Given the description of an element on the screen output the (x, y) to click on. 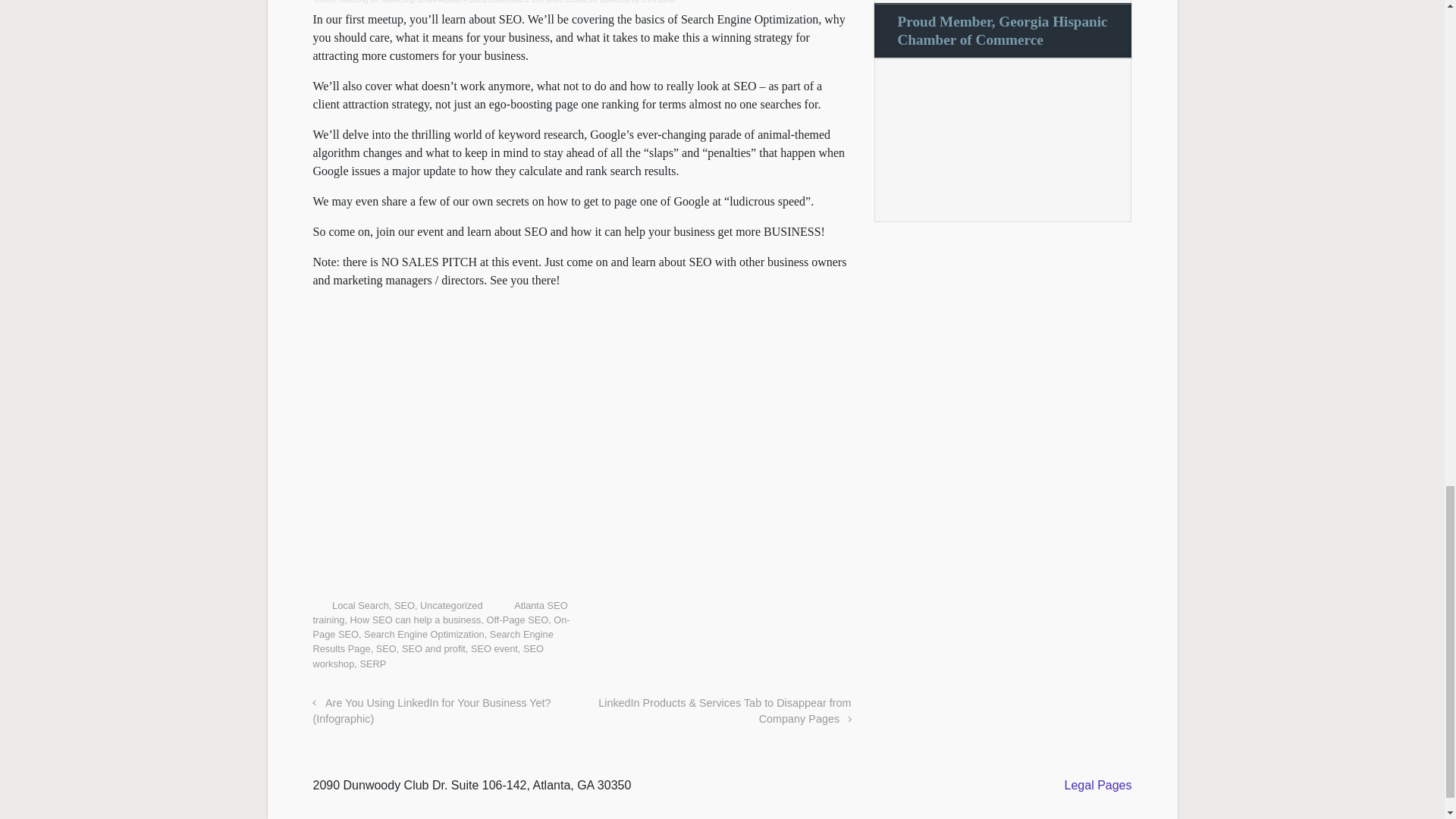
SEO (385, 648)
Marketing Small-Medium-Sized Businesses: Get More Business! (489, 2)
Atlanta SEO training (440, 612)
Search Engine Optimization (424, 633)
Search Engine Results Page (433, 641)
SEO and profit (433, 648)
How SEO can help a business (415, 619)
Off-Page SEO (517, 619)
On-Page SEO (441, 626)
SEO (404, 604)
